Given the description of an element on the screen output the (x, y) to click on. 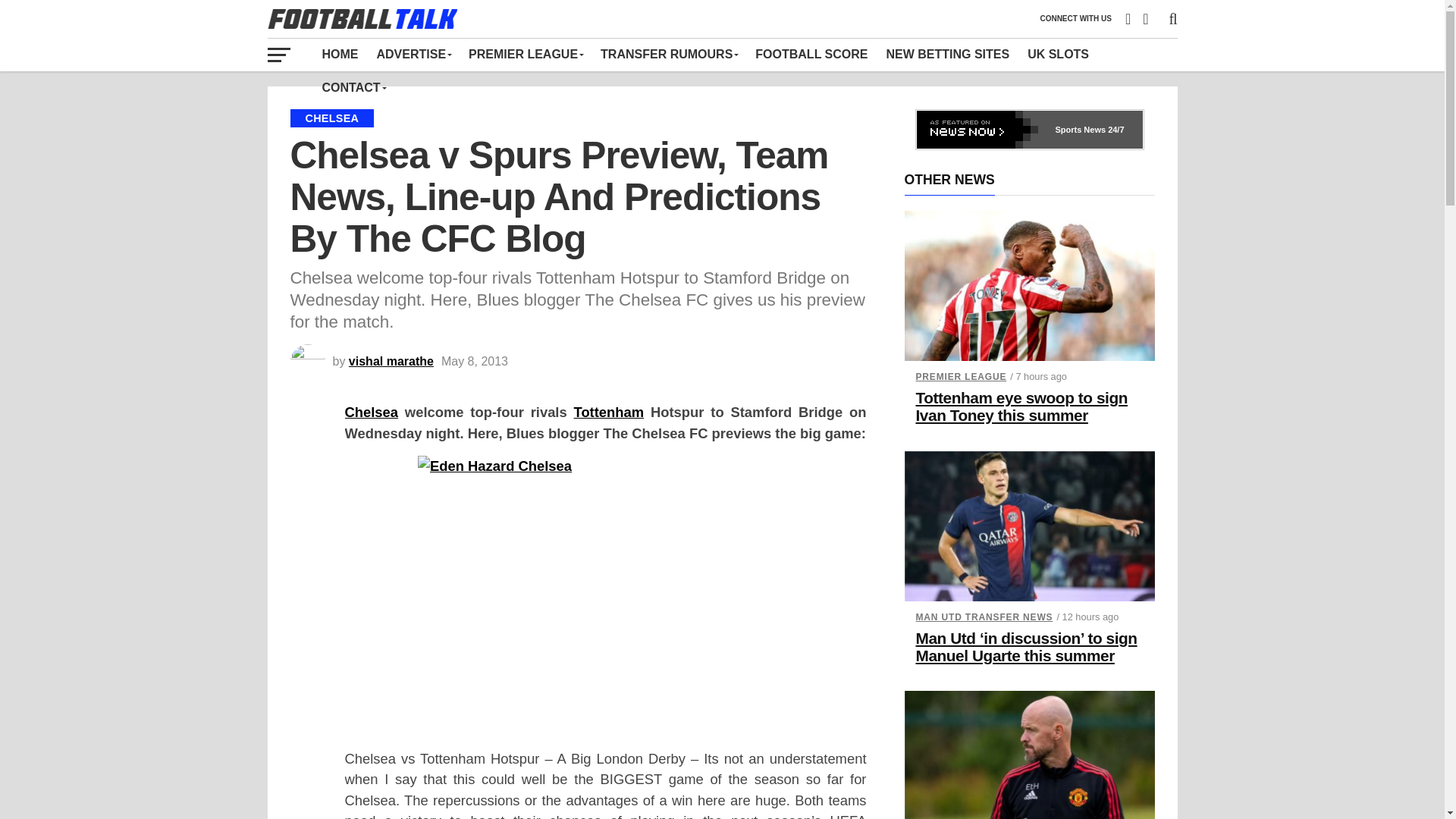
Premier League News (525, 54)
HOME (339, 54)
Advertise on Football-Talk (413, 54)
ADVERTISE (413, 54)
PREMIER LEAGUE (525, 54)
